Given the description of an element on the screen output the (x, y) to click on. 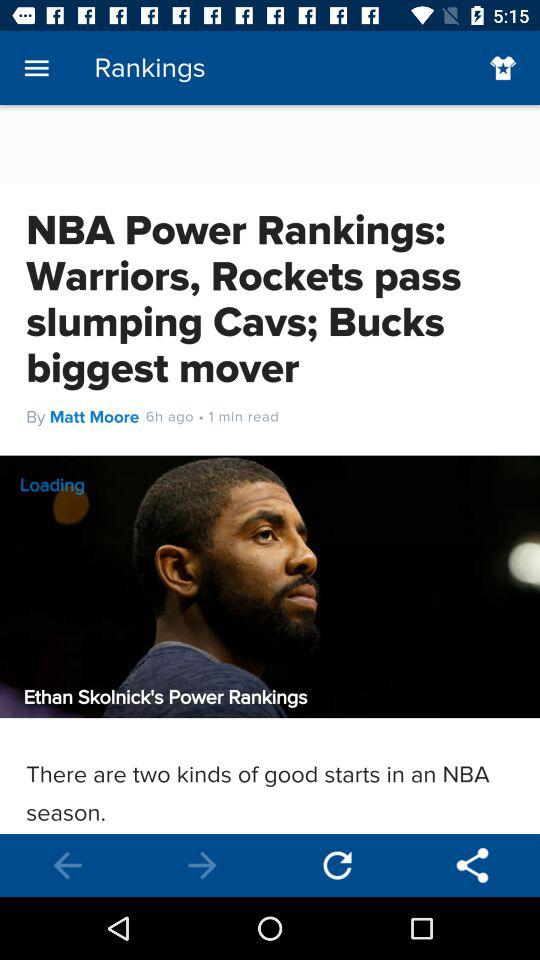
settings app (472, 865)
